Given the description of an element on the screen output the (x, y) to click on. 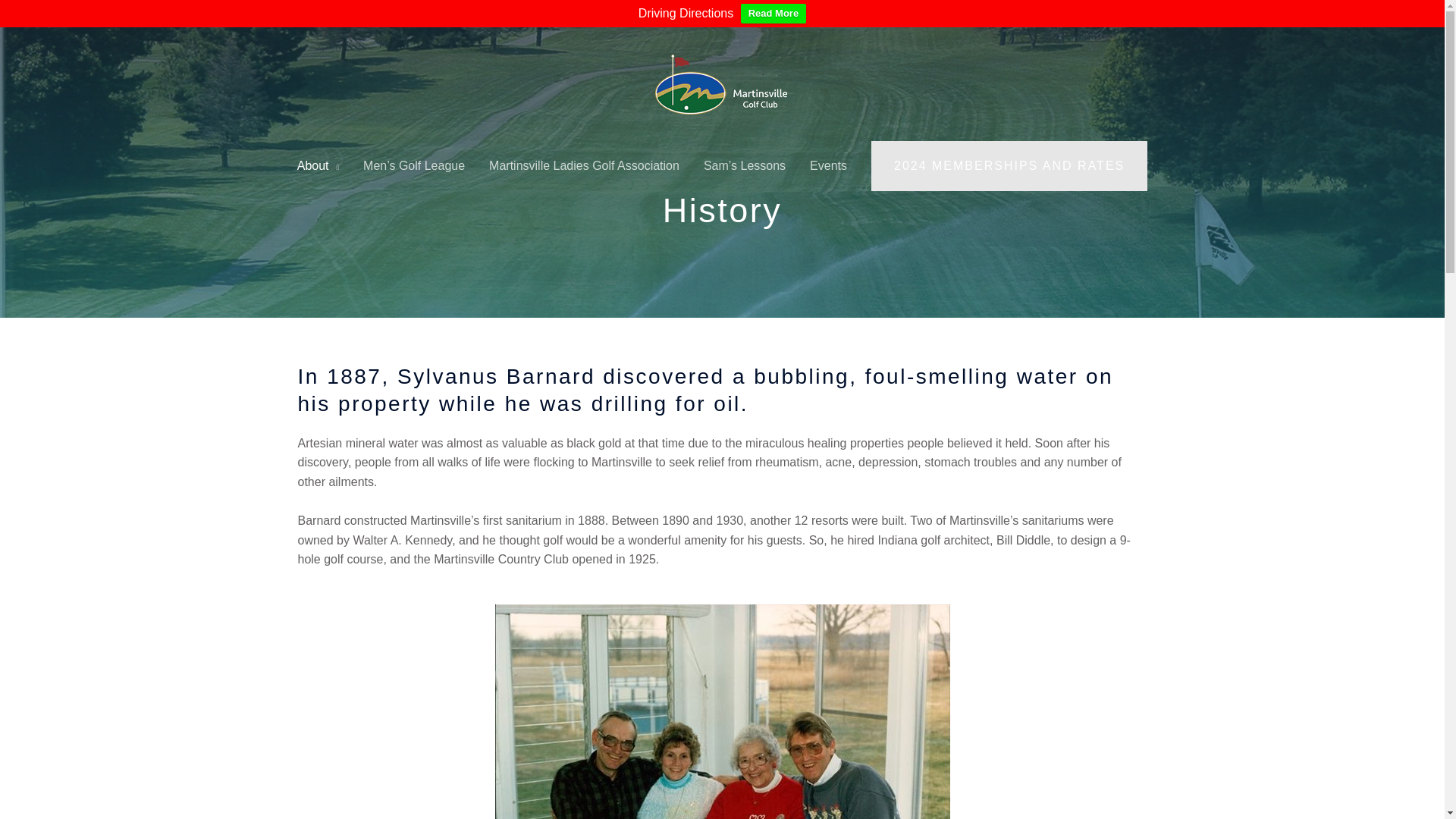
2024 MEMBERSHIPS AND RATES (1008, 165)
Read More (773, 13)
Events (828, 165)
Martinsville Ladies Golf Association (584, 165)
About (317, 165)
